Given the description of an element on the screen output the (x, y) to click on. 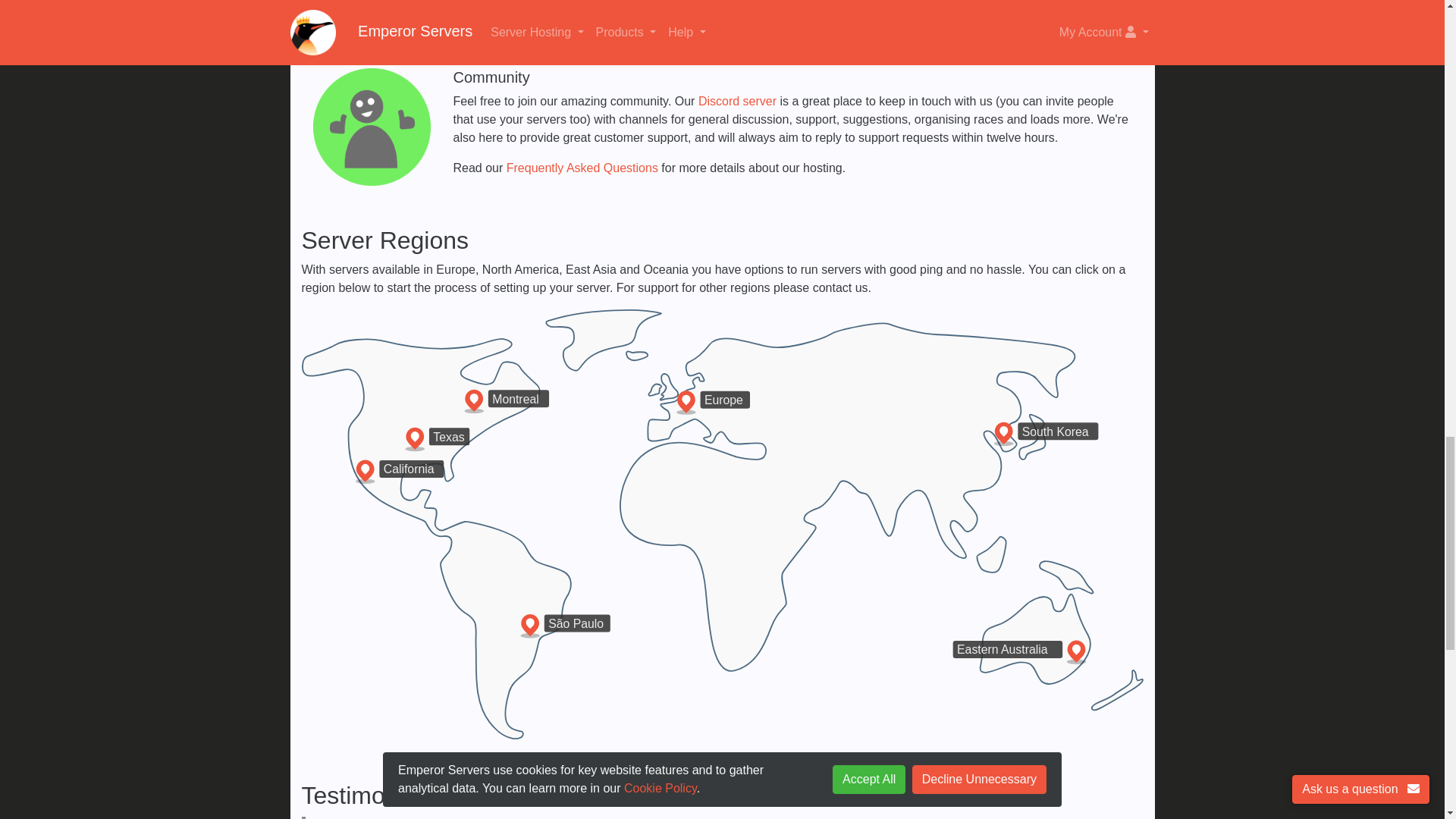
Frequently Asked Questions (582, 167)
Discord server (737, 101)
